Given the description of an element on the screen output the (x, y) to click on. 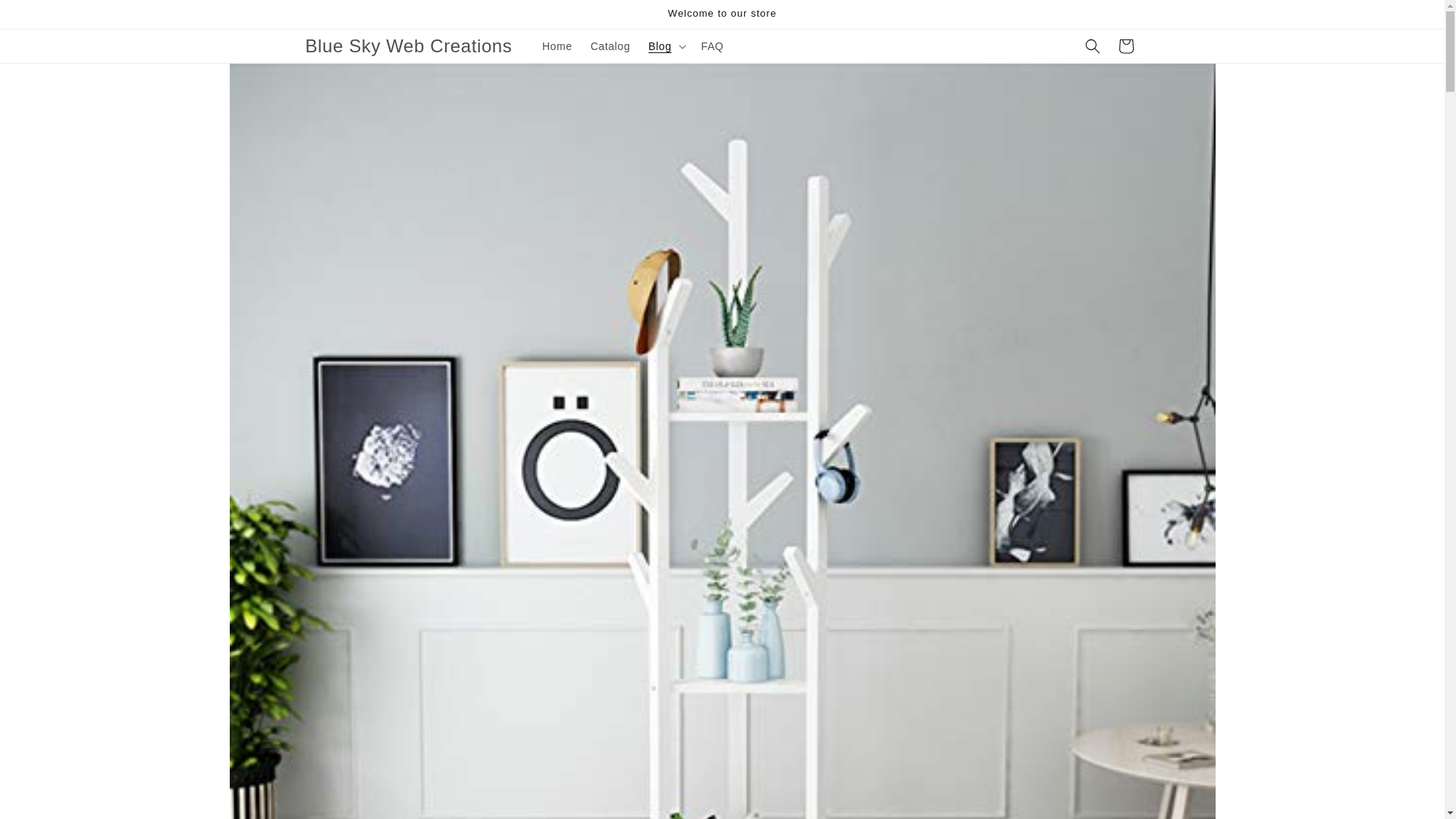
Cart (1124, 46)
Home (556, 46)
Skip to content (45, 17)
Blue Sky Web Creations (408, 46)
Catalog (609, 46)
FAQ (713, 46)
